Given the description of an element on the screen output the (x, y) to click on. 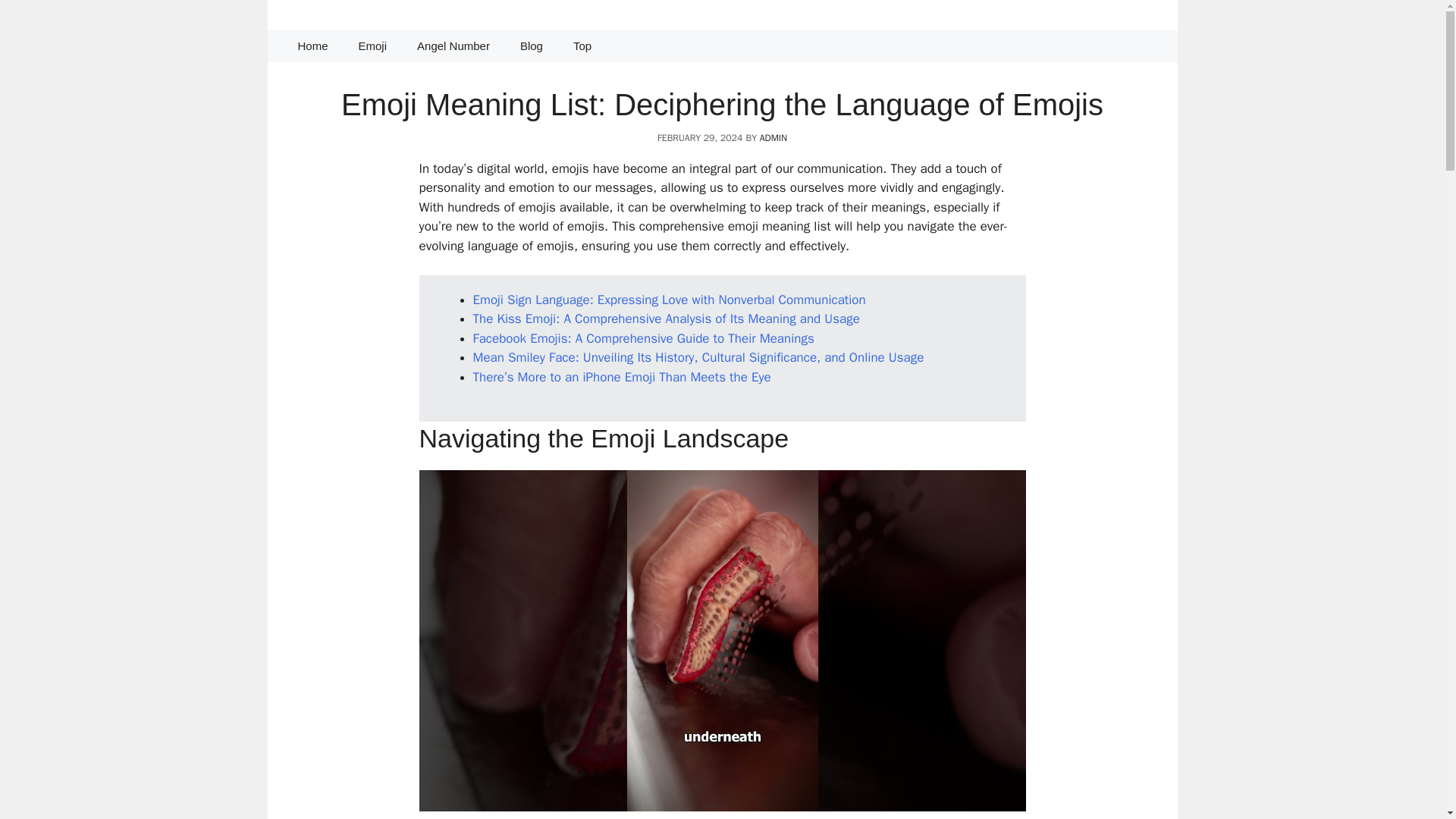
Facebook Emojis: A Comprehensive Guide to Their Meanings (643, 338)
Facebook Emojis: A Comprehensive Guide to Their Meanings (643, 338)
ADMIN (773, 137)
Home (312, 46)
Top (582, 46)
View all posts by admin (773, 137)
